Given the description of an element on the screen output the (x, y) to click on. 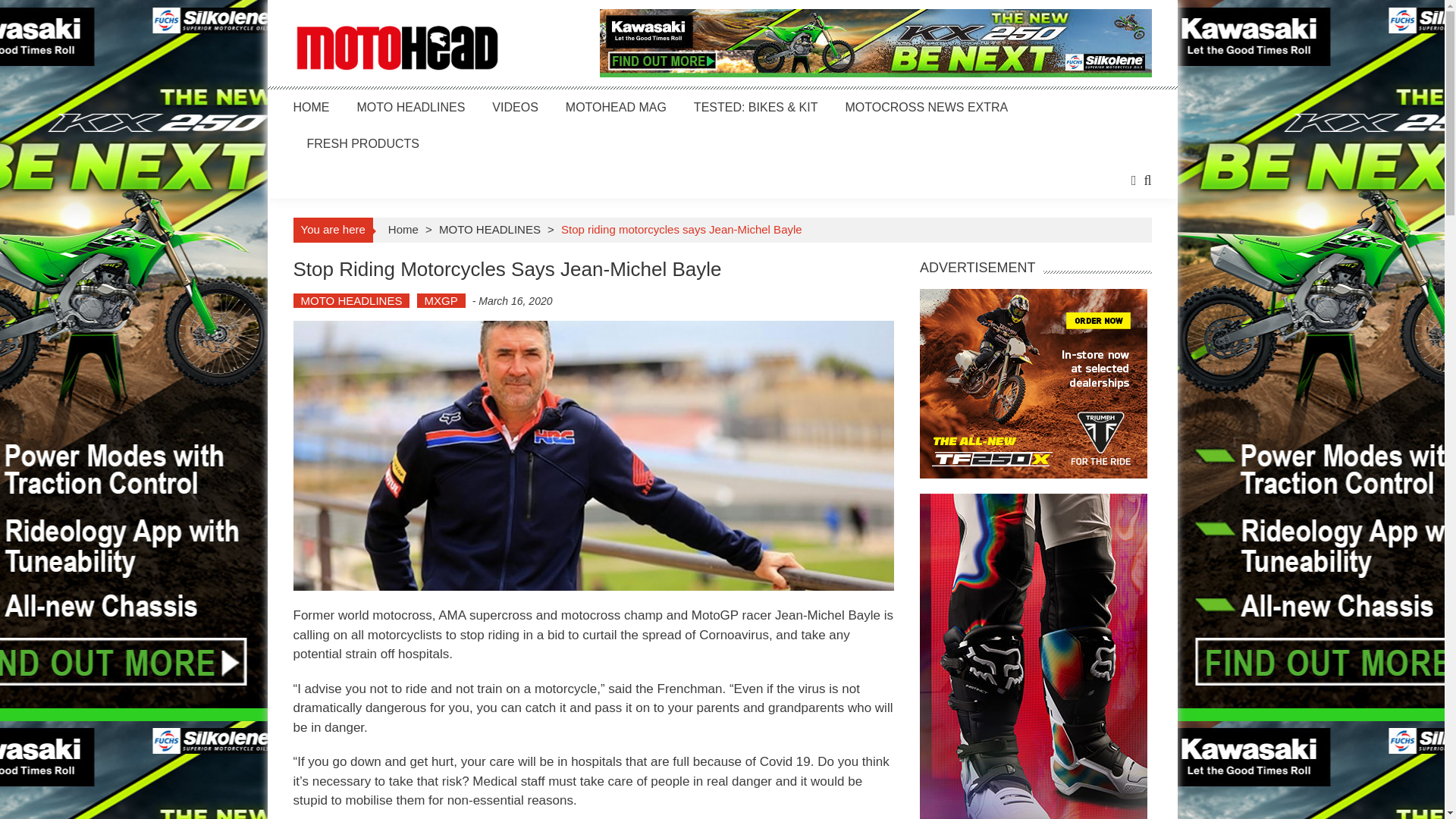
HOME (310, 106)
MOTO HEADLINES (350, 300)
MOTO HEADLINES (410, 106)
VIDEOS (514, 106)
MOTOHEAD MAG (616, 106)
FRESH PRODUCTS (362, 143)
MOTO HEADLINES (489, 228)
MXGP (440, 300)
motoheadmag (396, 48)
